Given the description of an element on the screen output the (x, y) to click on. 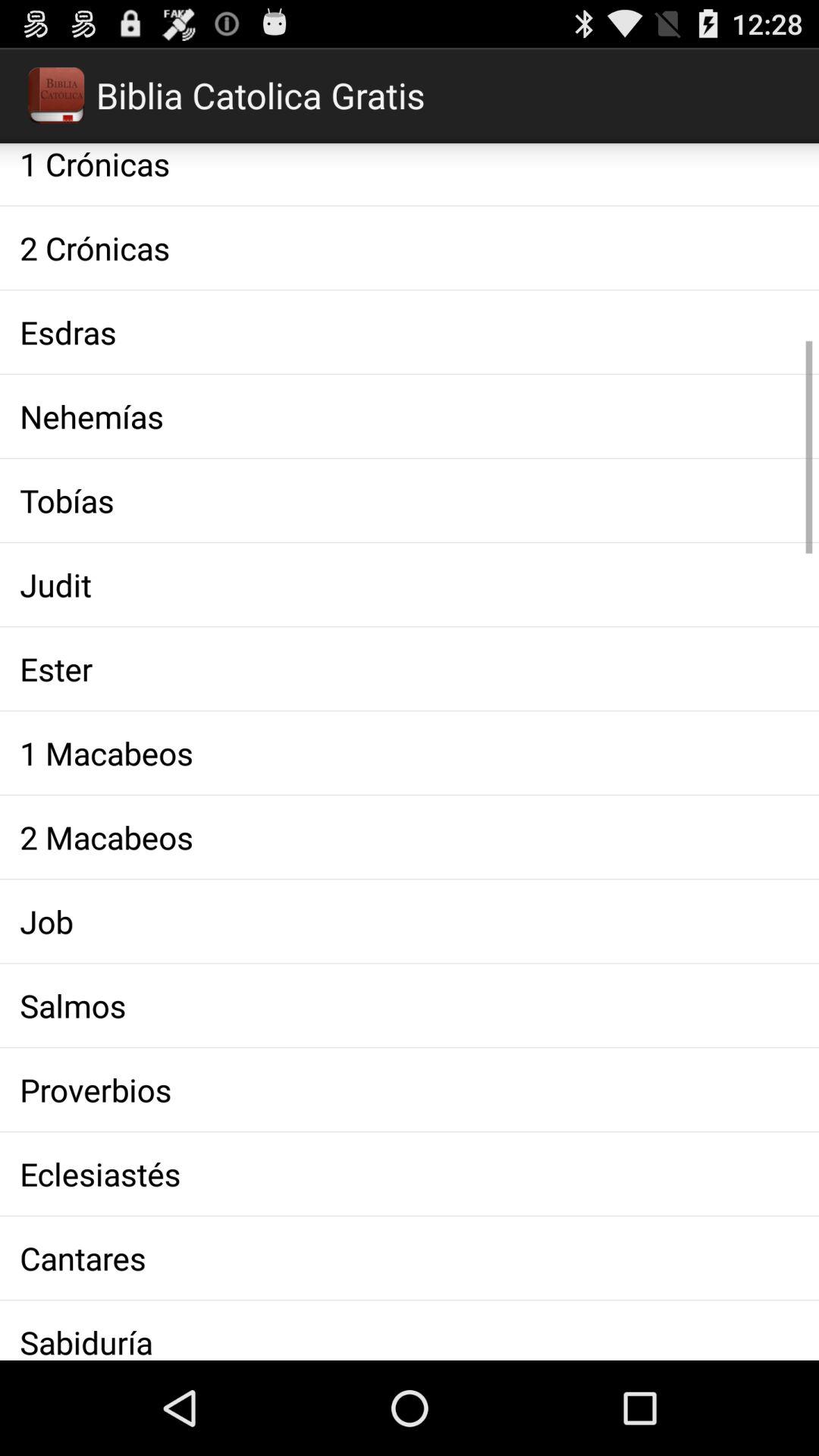
choose the salmos app (409, 1005)
